Given the description of an element on the screen output the (x, y) to click on. 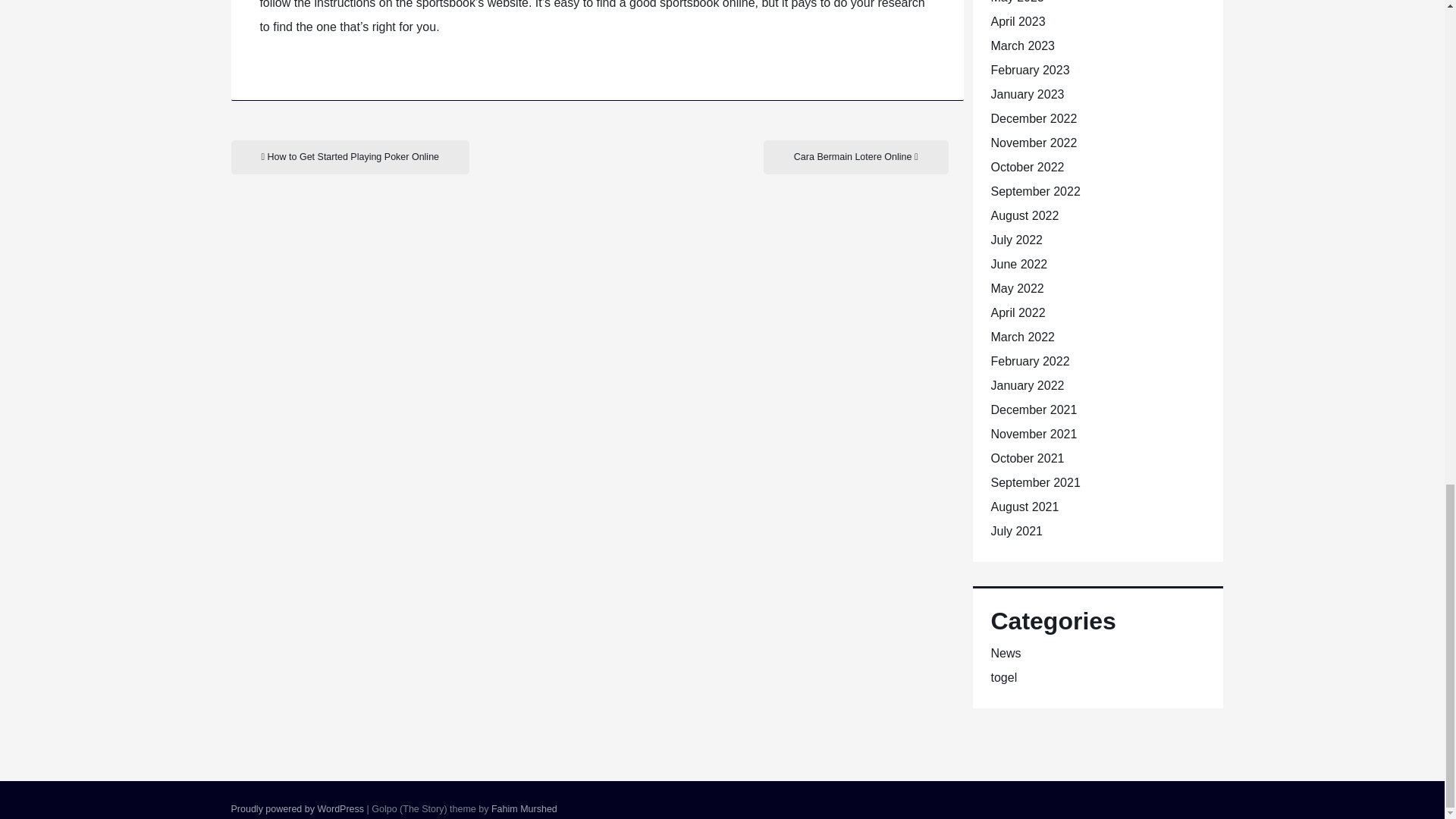
Cara Bermain Lotere Online (855, 157)
How to Get Started Playing Poker Online (349, 157)
December 2022 (1033, 118)
November 2022 (1033, 142)
January 2023 (1027, 93)
August 2022 (1024, 215)
February 2023 (1029, 69)
June 2022 (1018, 264)
July 2022 (1016, 239)
September 2022 (1035, 191)
March 2023 (1022, 45)
April 2023 (1017, 21)
October 2022 (1027, 166)
May 2023 (1016, 2)
